Given the description of an element on the screen output the (x, y) to click on. 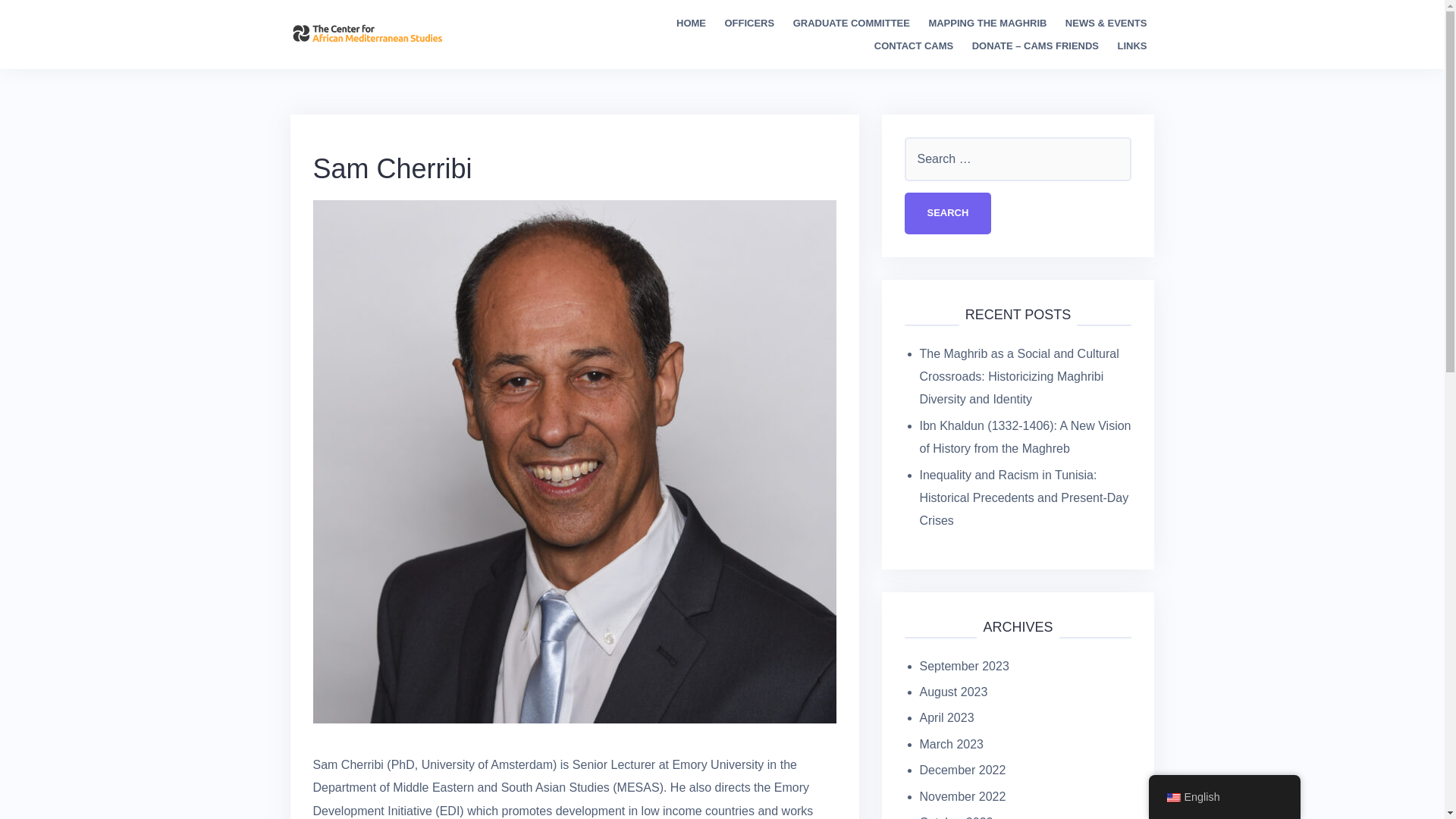
October 2022 (955, 817)
Search (947, 213)
MAPPING THE MAGHRIB (987, 23)
April 2023 (946, 717)
Sam Cherribi (574, 460)
August 2023 (952, 691)
GRADUATE COMMITTEE (851, 23)
OFFICERS (748, 23)
HOME (691, 23)
Search (947, 213)
March 2023 (951, 744)
Search (947, 213)
English (1172, 797)
